Given the description of an element on the screen output the (x, y) to click on. 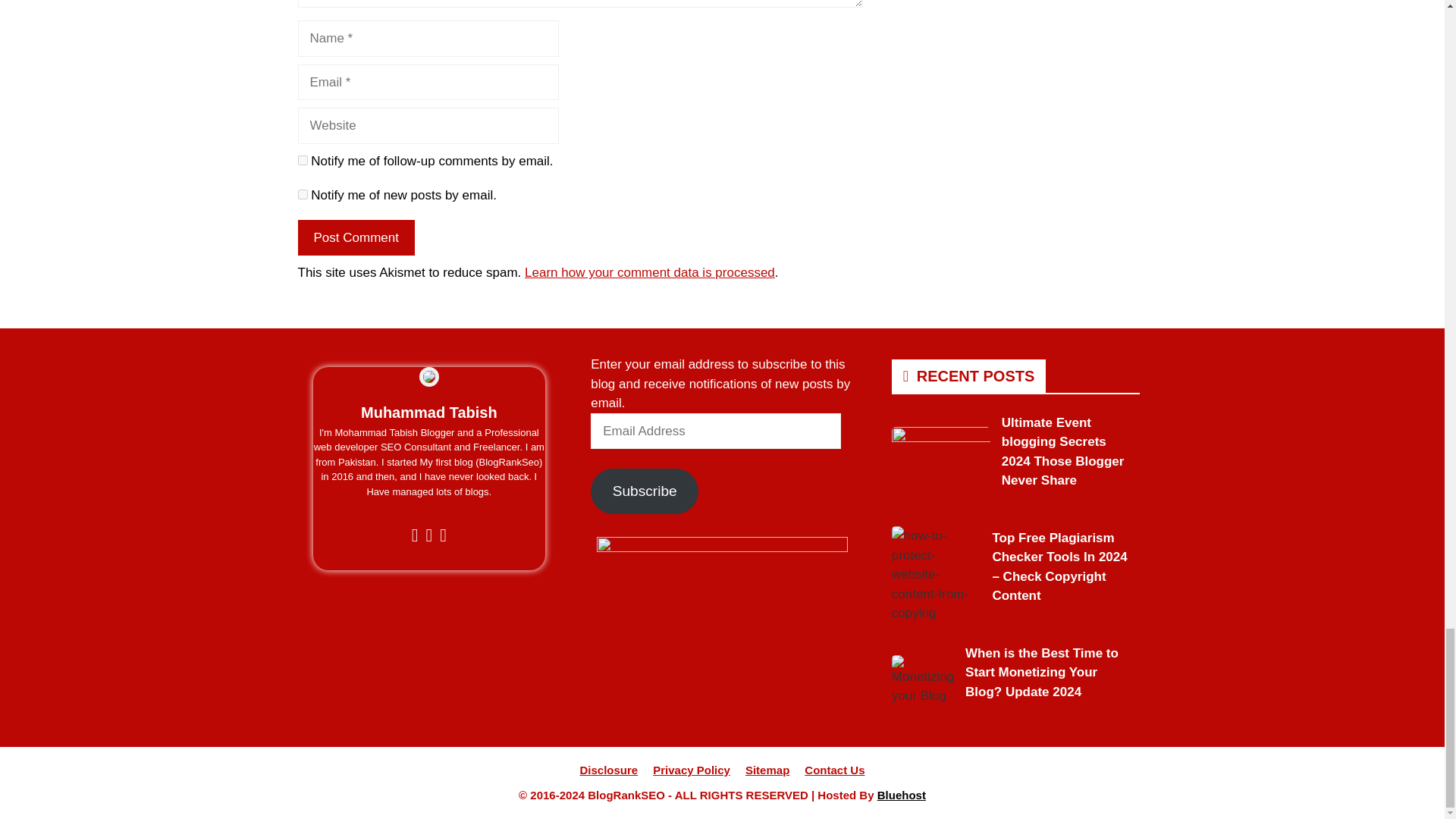
subscribe (302, 160)
Learn how your comment data is processed (649, 272)
subscribe (302, 194)
Post Comment (355, 238)
Post Comment (355, 238)
